Given the description of an element on the screen output the (x, y) to click on. 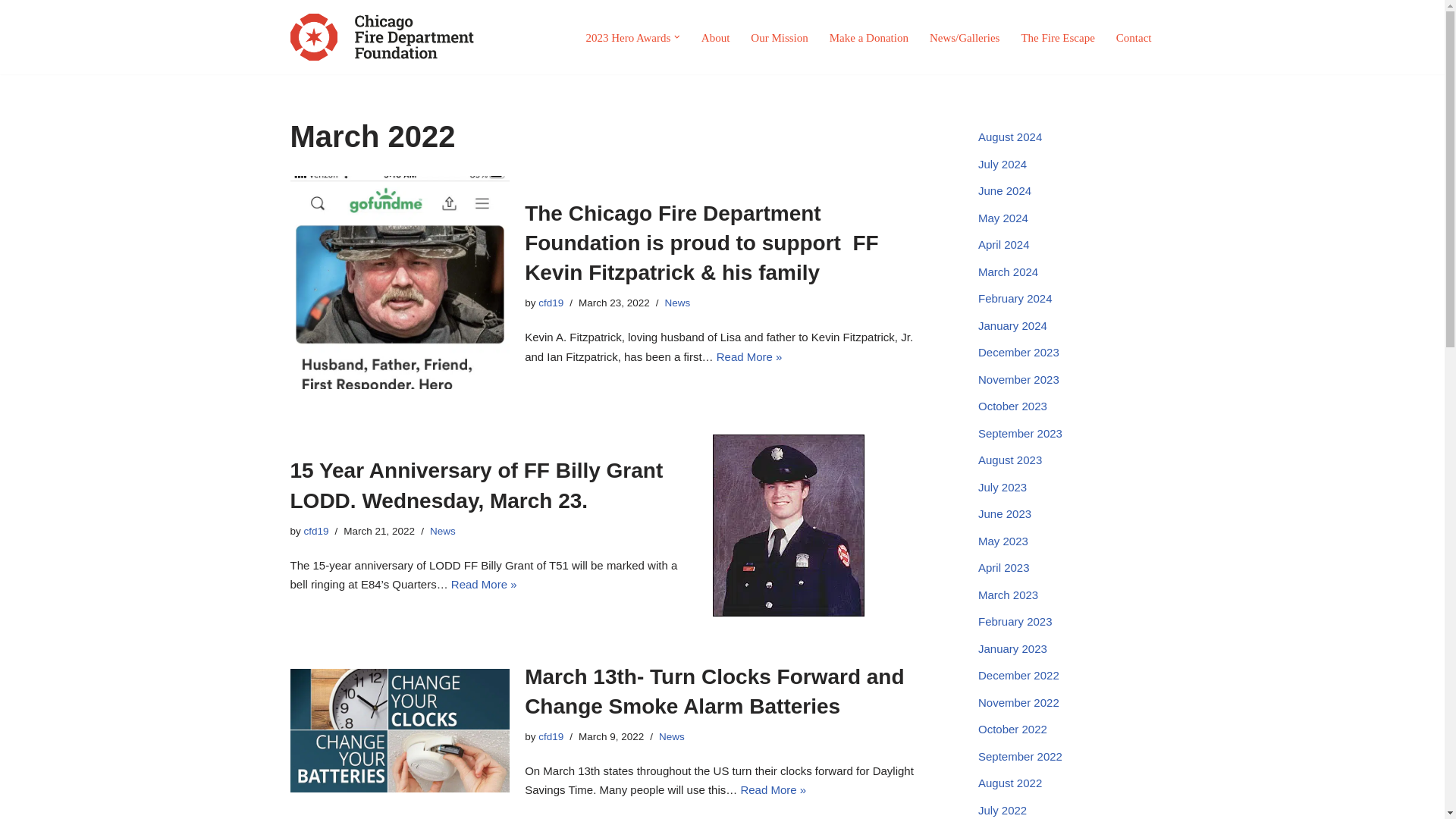
About (715, 36)
cfd19 (550, 302)
2023 Hero Awards (627, 36)
cfd19 (316, 531)
Skip to content (11, 31)
Posts by cfd19 (550, 736)
News (677, 302)
Make a Donation (868, 36)
News (442, 531)
